Given the description of an element on the screen output the (x, y) to click on. 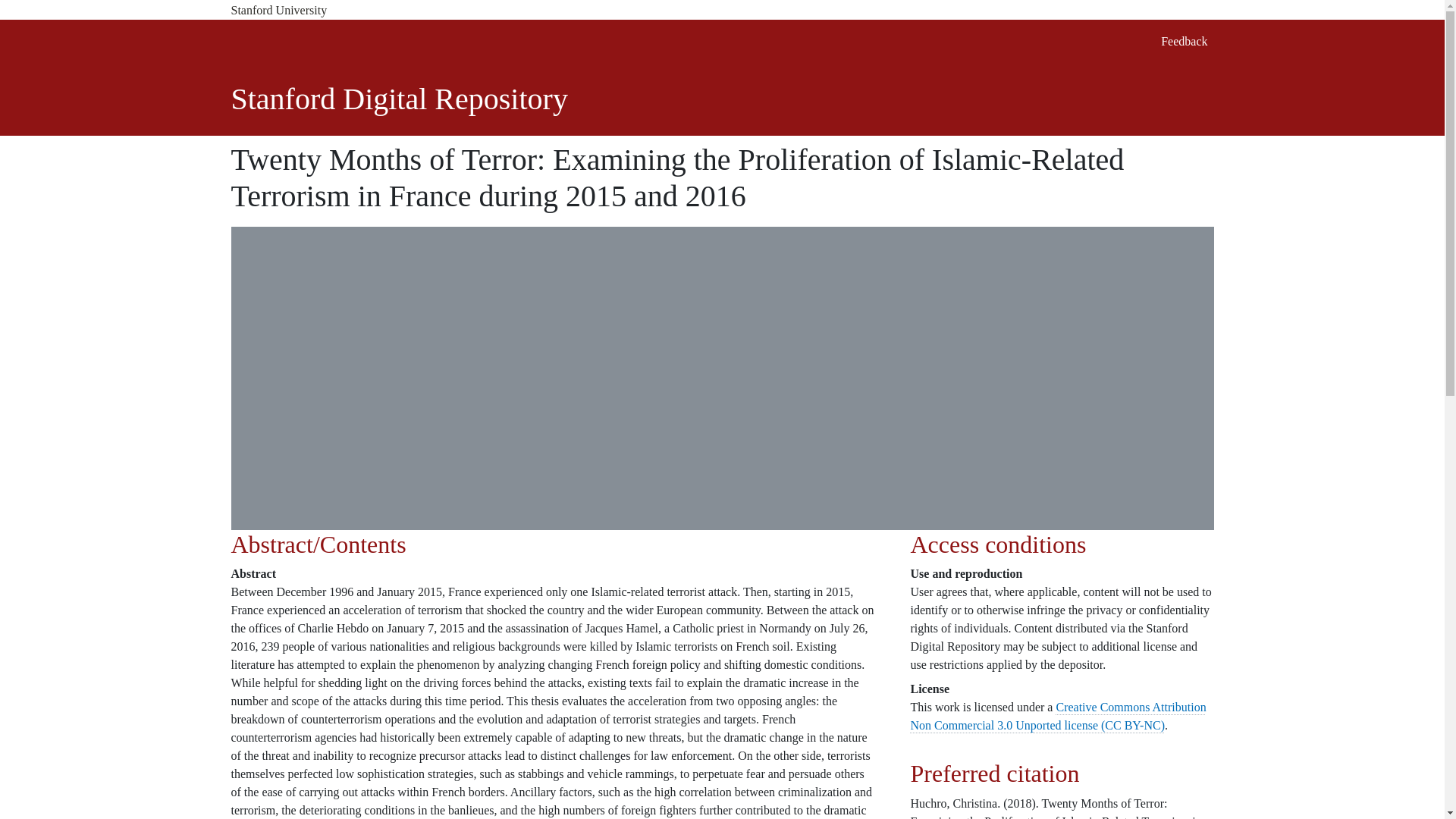
Stanford University (721, 10)
Stanford Libraries (328, 40)
Feedback (1183, 40)
Stanford Digital Repository (398, 98)
